Given the description of an element on the screen output the (x, y) to click on. 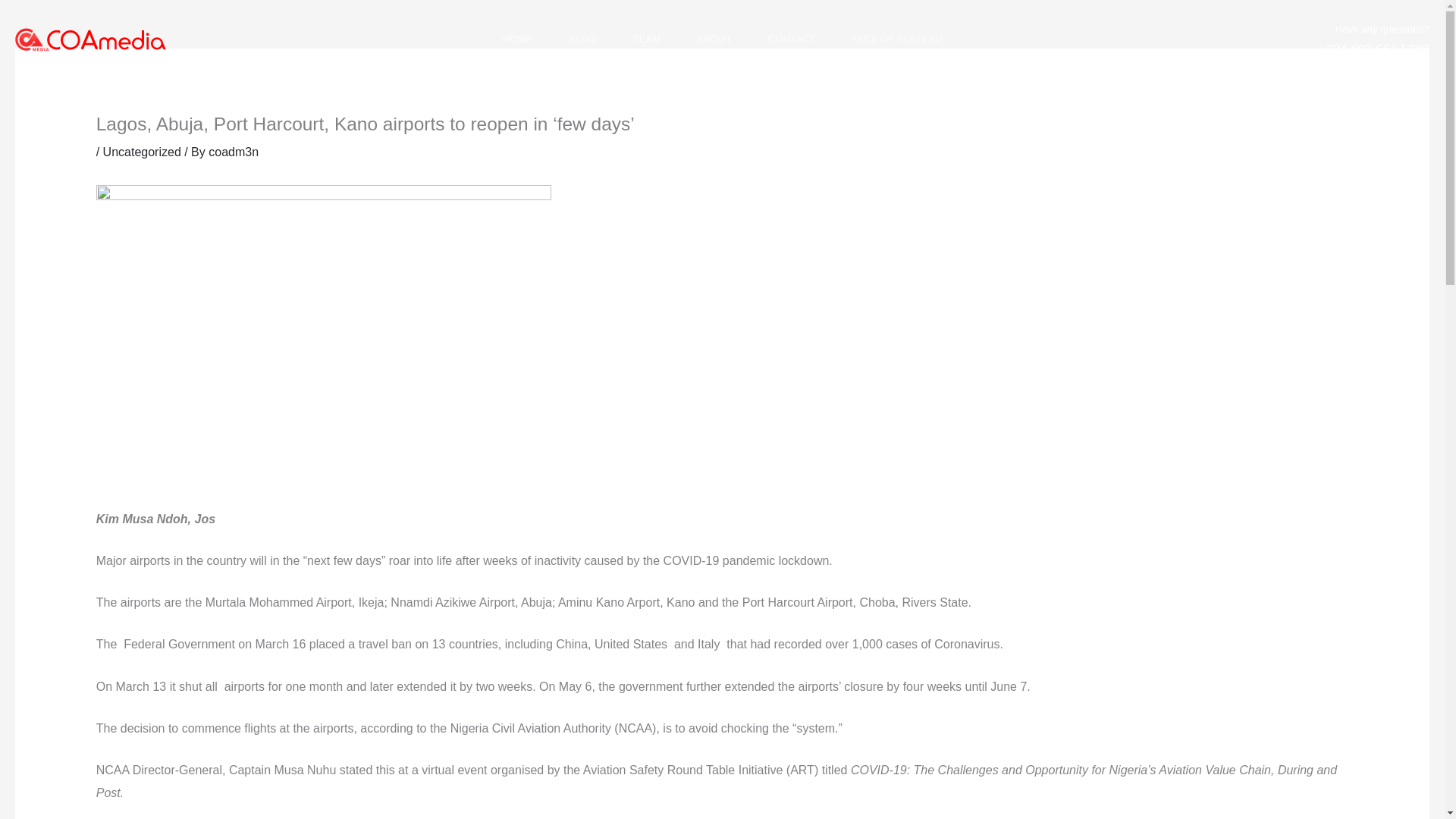
View all posts by coadm3n (233, 151)
coadm3n (233, 151)
CONTACT (791, 39)
Uncategorized (141, 151)
FACE OF PLATEAU (895, 39)
ABOUT (713, 39)
